Given the description of an element on the screen output the (x, y) to click on. 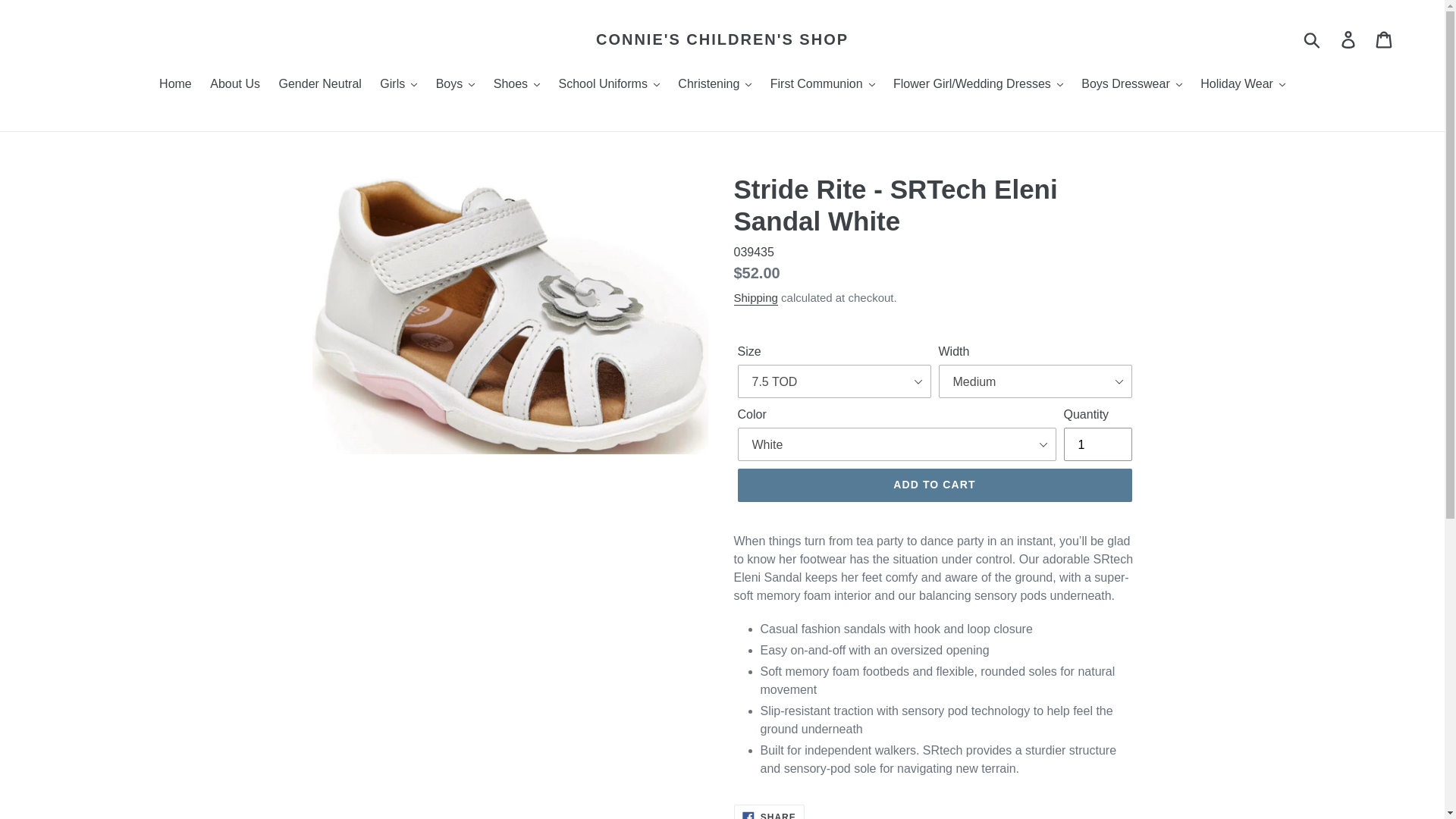
Cart (1385, 39)
Submit (1313, 39)
CONNIE'S CHILDREN'S SHOP (721, 39)
Log in (1349, 39)
1 (1096, 444)
